Given the description of an element on the screen output the (x, y) to click on. 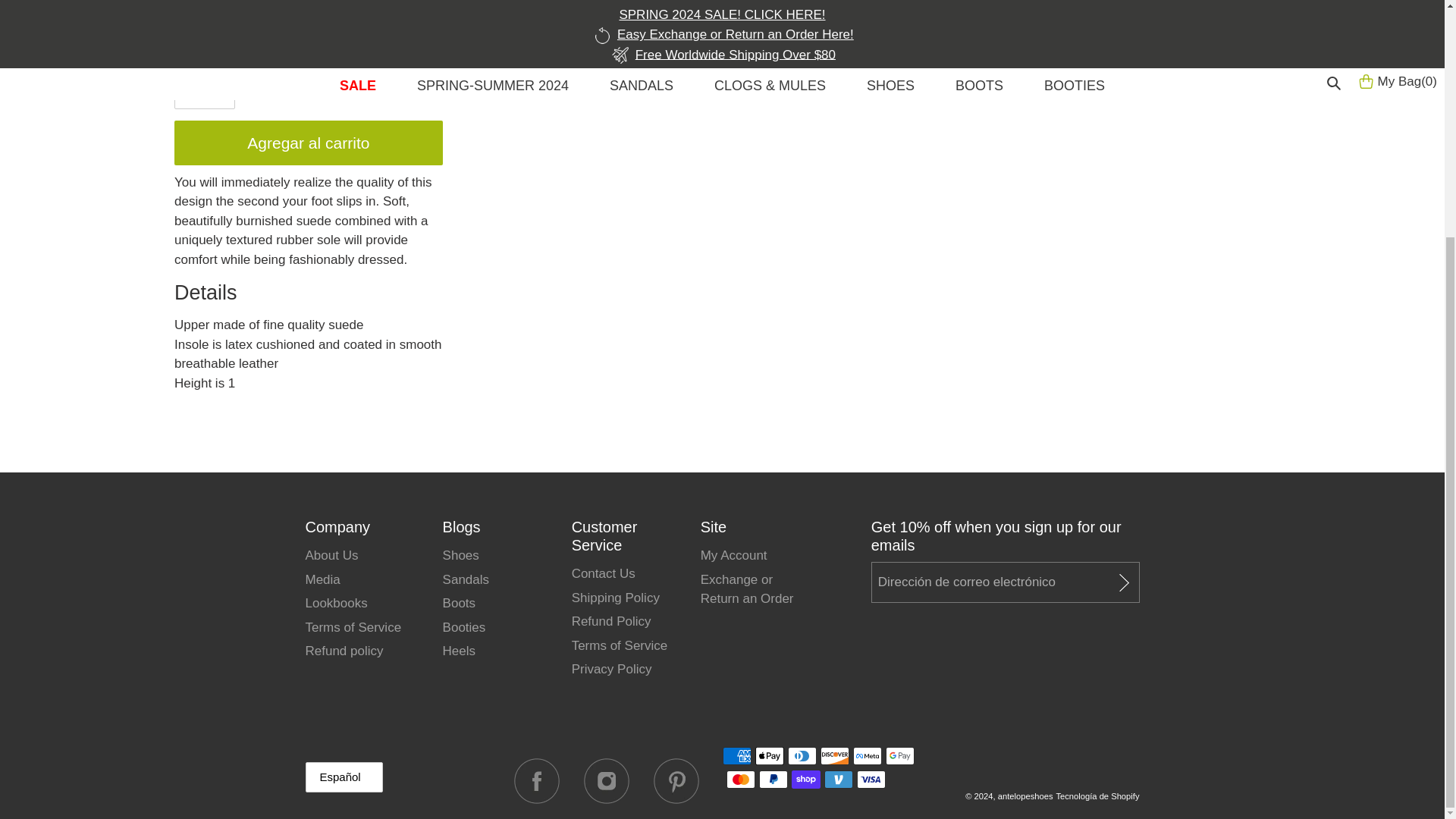
1 (204, 92)
